Given the description of an element on the screen output the (x, y) to click on. 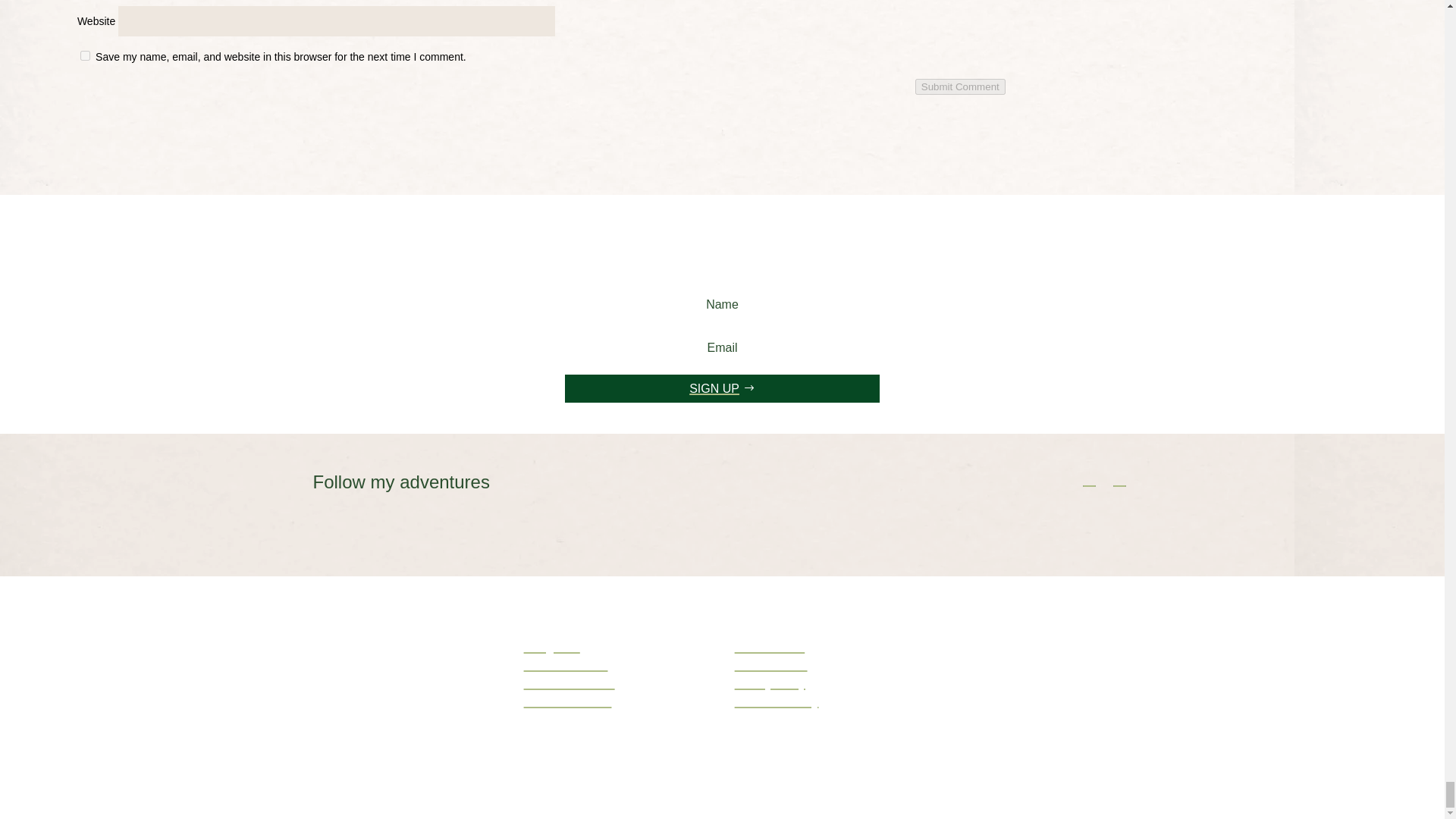
yes (85, 55)
